Given the description of an element on the screen output the (x, y) to click on. 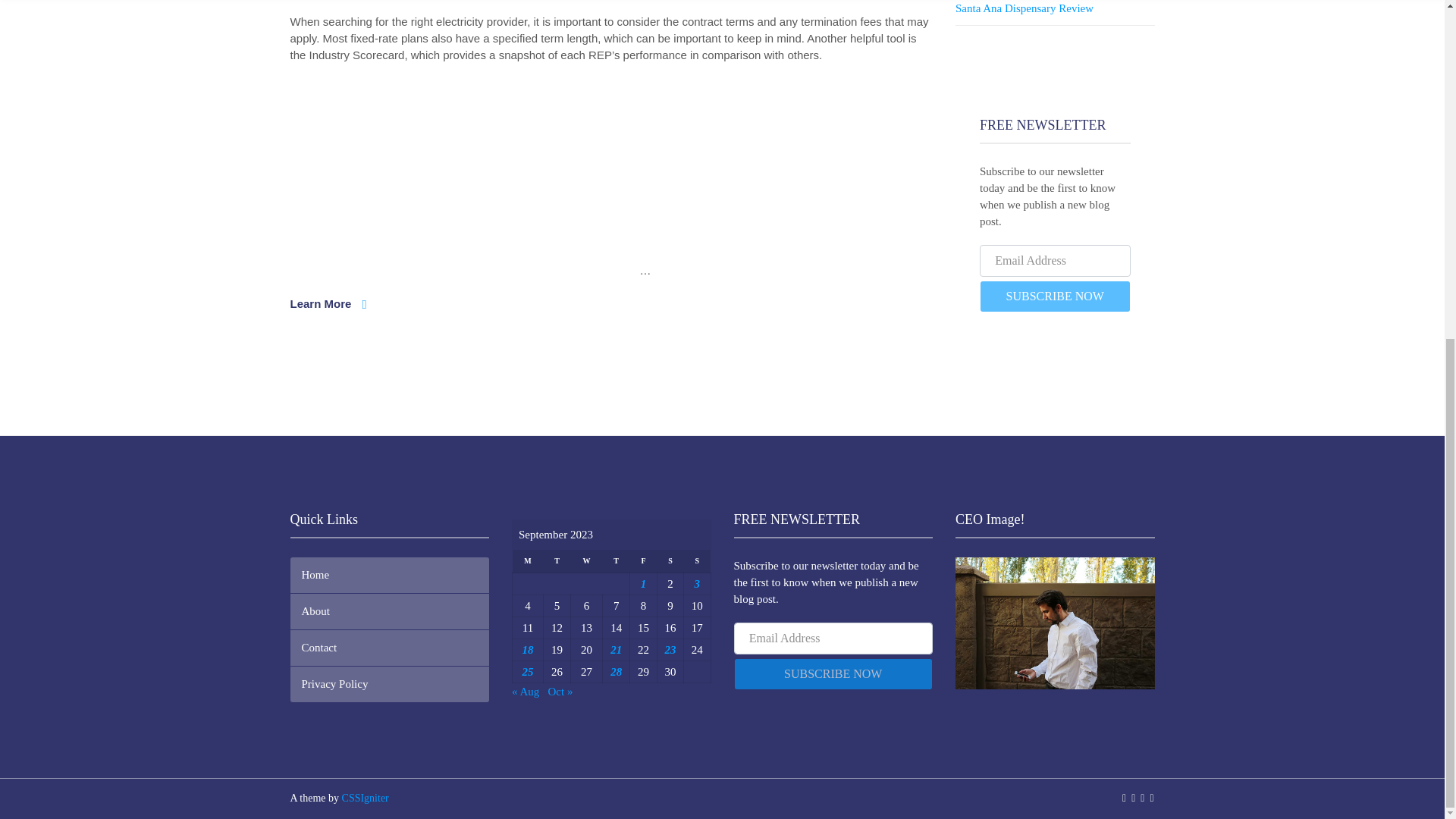
Tuesday (556, 561)
SUBSCRIBE NOW (1055, 296)
18 (526, 649)
Home (389, 574)
Privacy Policy (389, 683)
Monday (527, 561)
Learn More (327, 303)
About (389, 611)
Contact (389, 647)
SUBSCRIBE NOW (833, 674)
23 (669, 649)
Friday (643, 561)
SUBSCRIBE NOW (1055, 296)
21 (615, 649)
Thursday (615, 561)
